Given the description of an element on the screen output the (x, y) to click on. 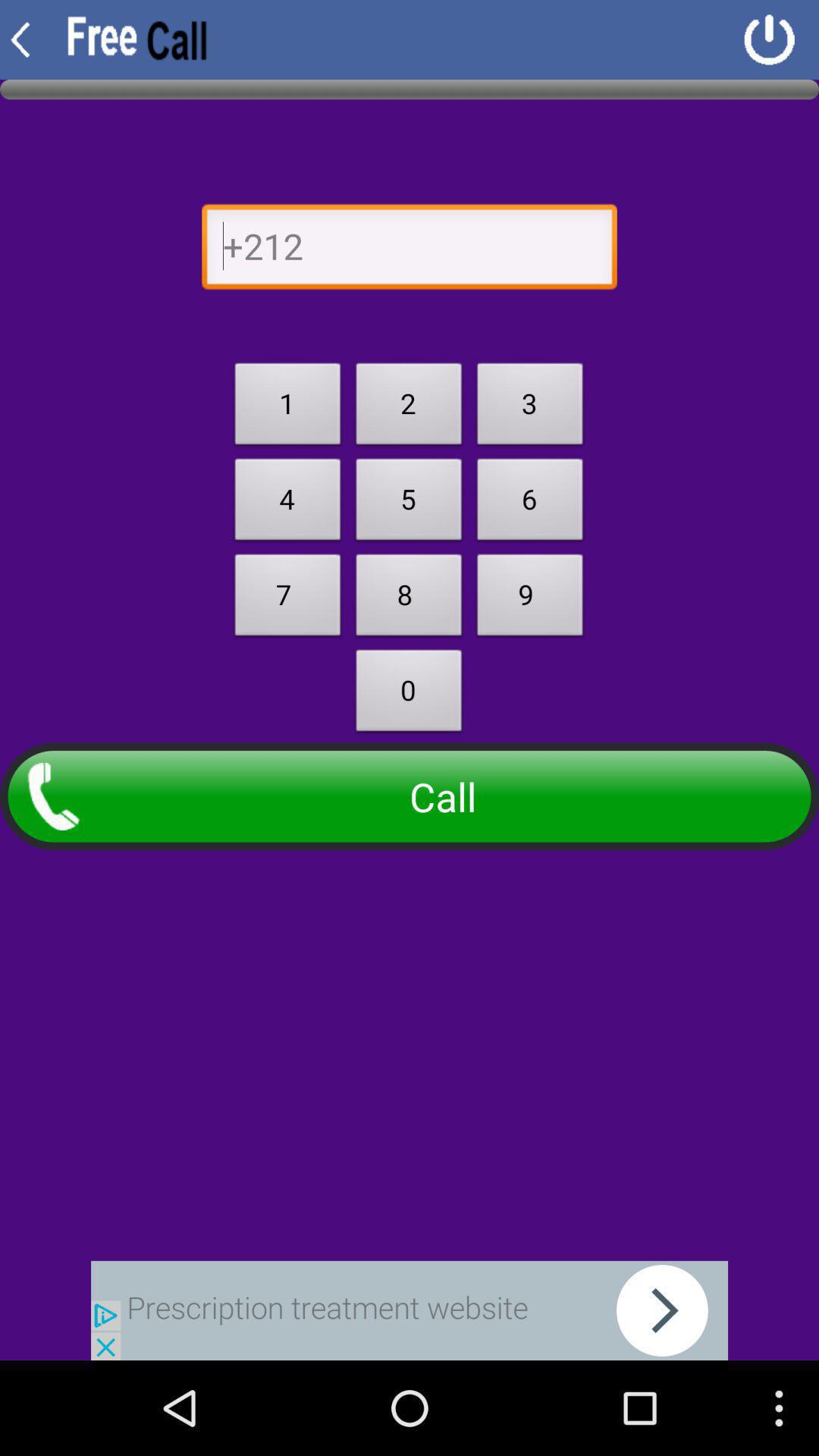
logout (769, 39)
